Given the description of an element on the screen output the (x, y) to click on. 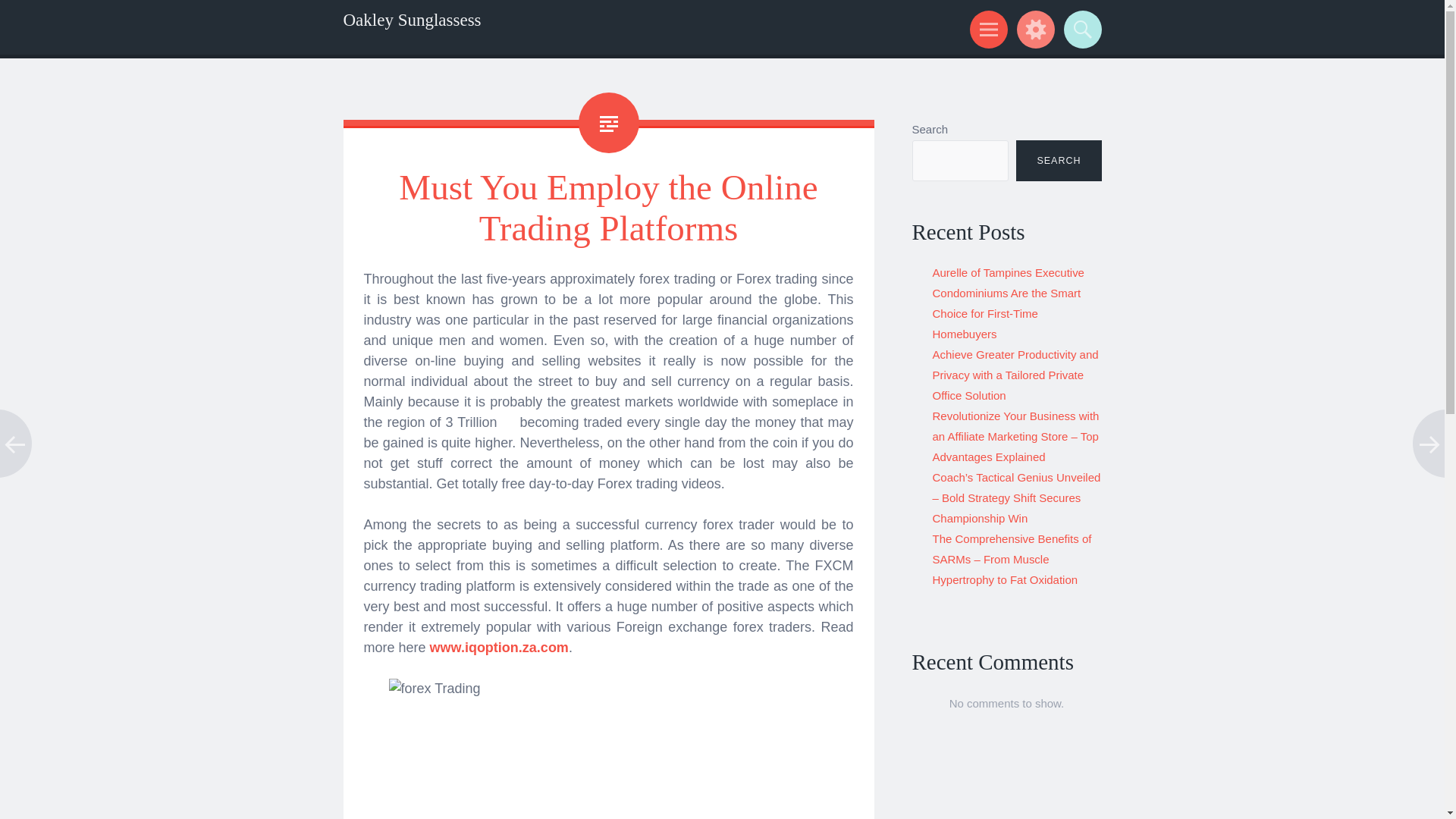
Menu (985, 29)
Search (1080, 29)
Oakley Sunglassess (411, 19)
Widgets (1032, 29)
